Given the description of an element on the screen output the (x, y) to click on. 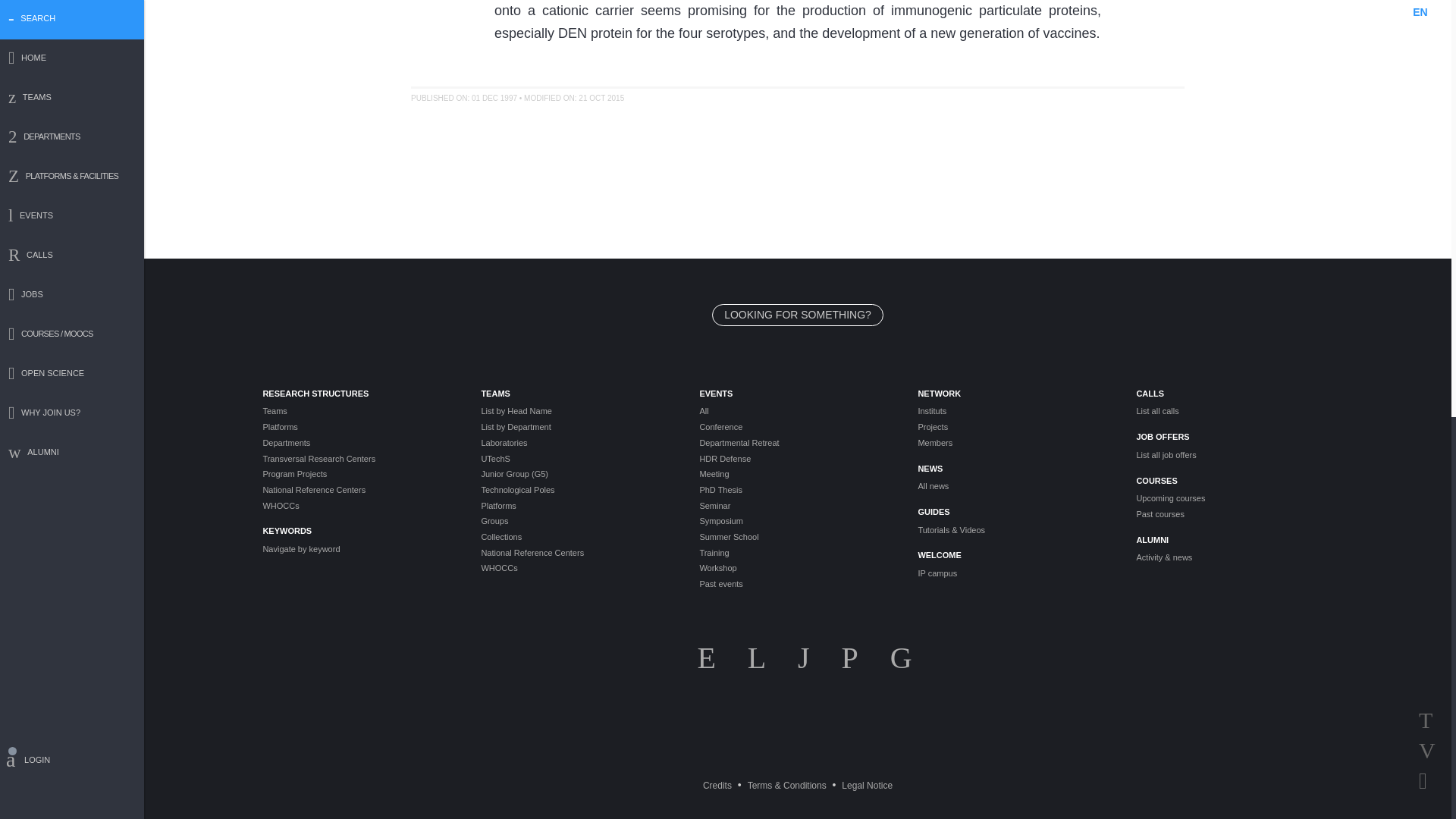
Teams (360, 411)
Departments (360, 442)
Platforms (360, 427)
